Given the description of an element on the screen output the (x, y) to click on. 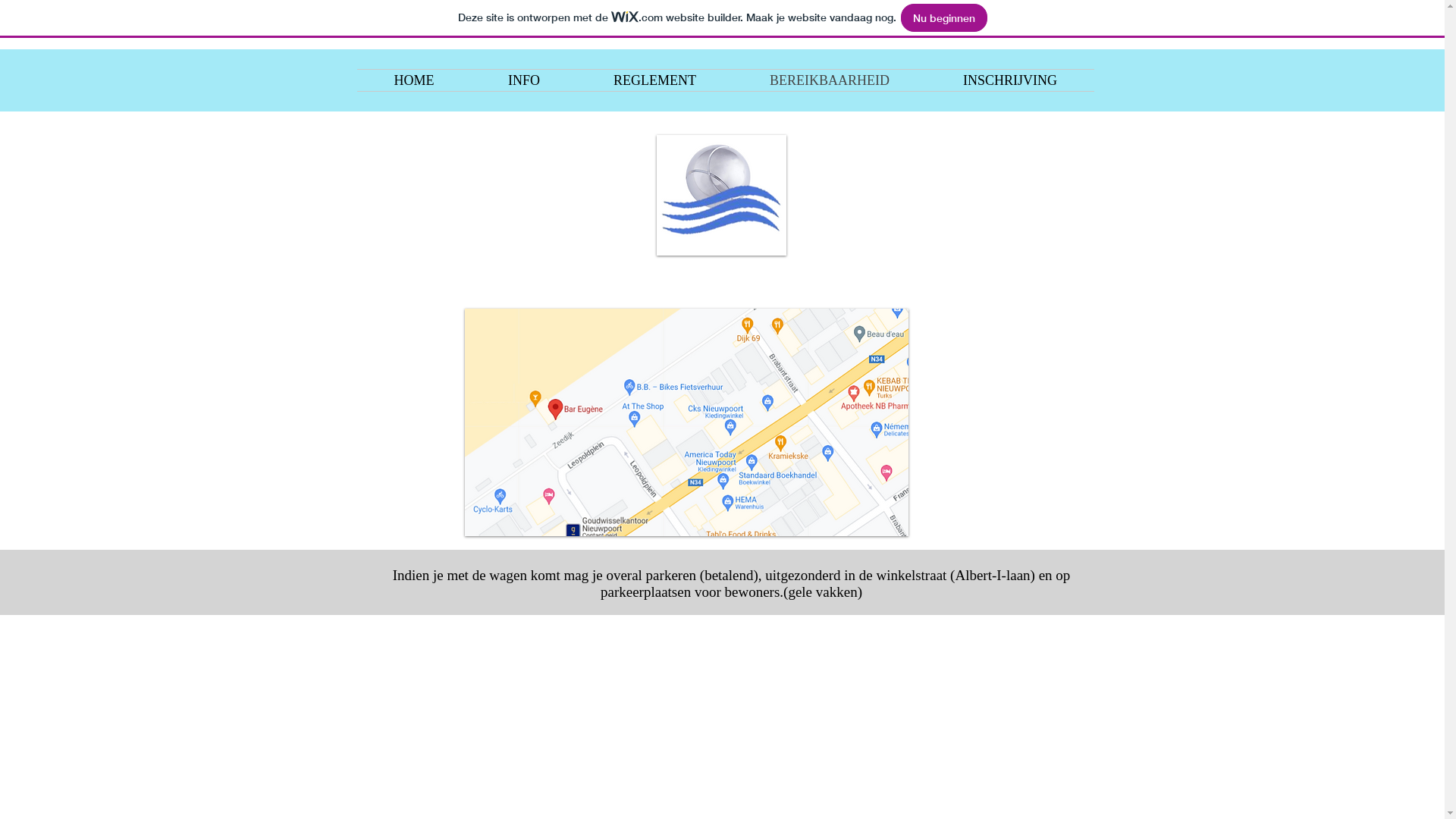
INFO Element type: text (524, 80)
REGLEMENT Element type: text (654, 80)
HOME Element type: text (413, 80)
BEREIKBAARHEID Element type: text (828, 80)
INSCHRIJVING Element type: text (1010, 80)
